Given the description of an element on the screen output the (x, y) to click on. 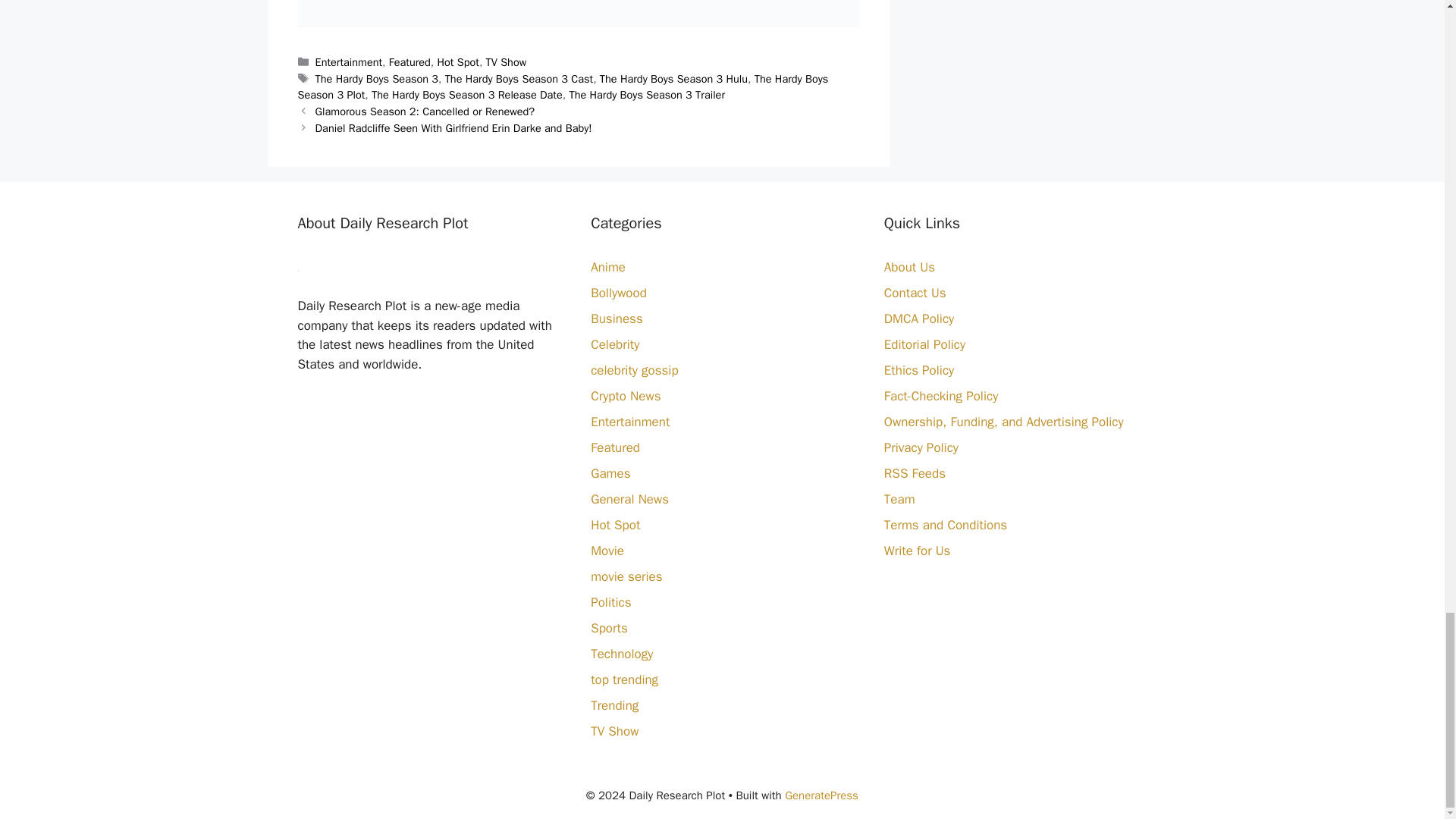
Daniel Radcliffe Seen With Girlfriend Erin Darke and Baby! (453, 128)
The Hardy Boys Season 3 Plot (562, 87)
Entertainment (348, 61)
The Hardy Boys Season 3 Release Date (466, 94)
Glamorous Season 2: Cancelled or Renewed? (424, 110)
The Hardy Boys Season 3 (376, 78)
TV Show (506, 61)
Hot Spot (458, 61)
The Hardy Boys Season 3 Hulu (673, 78)
The Hardy Boys Season 3 Trailer (647, 94)
